Given the description of an element on the screen output the (x, y) to click on. 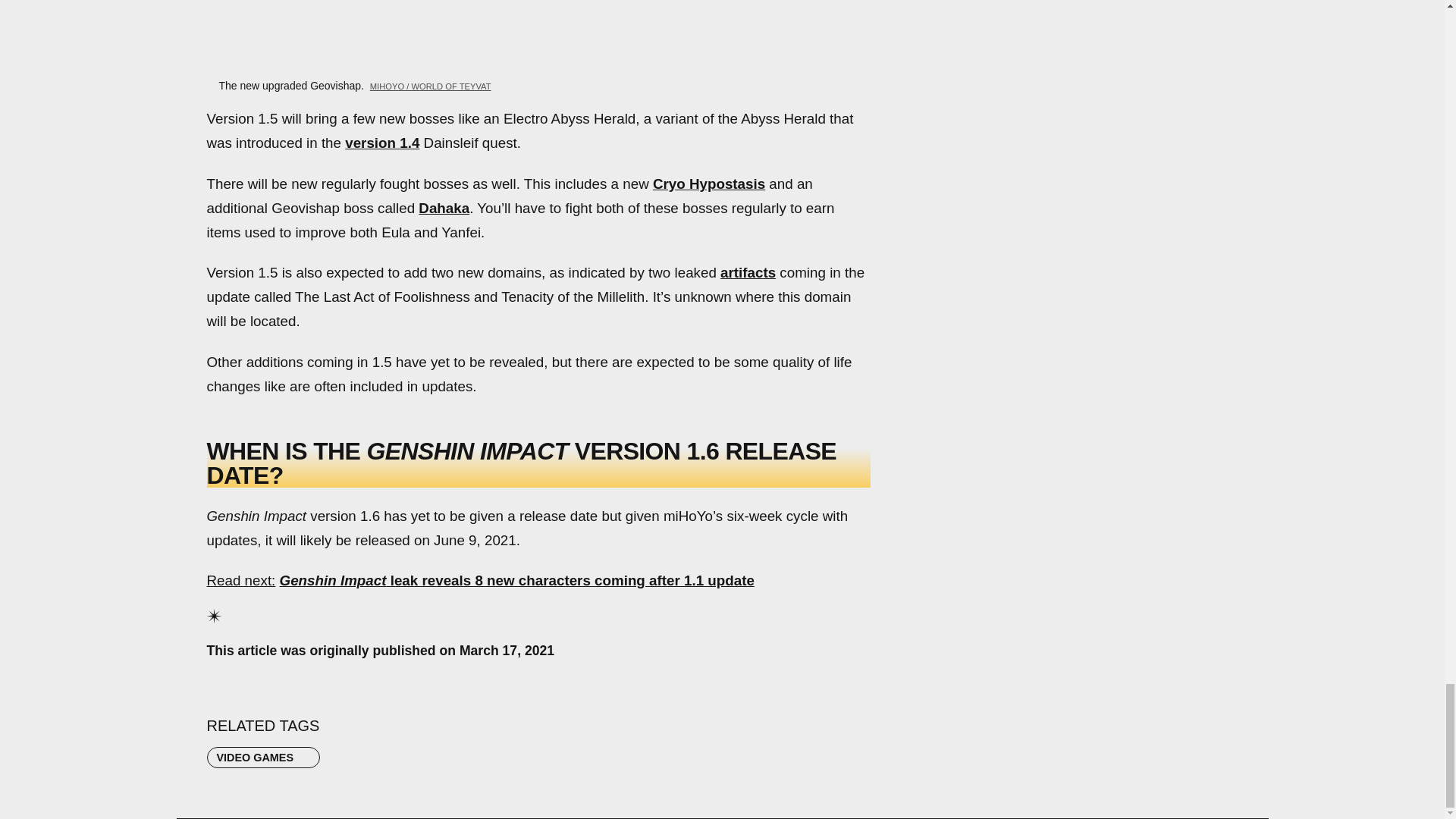
VIDEO GAMES (263, 757)
Dahaka (443, 207)
version 1.4 (382, 142)
Cryo Hypostasis (708, 183)
artifacts (748, 272)
